Given the description of an element on the screen output the (x, y) to click on. 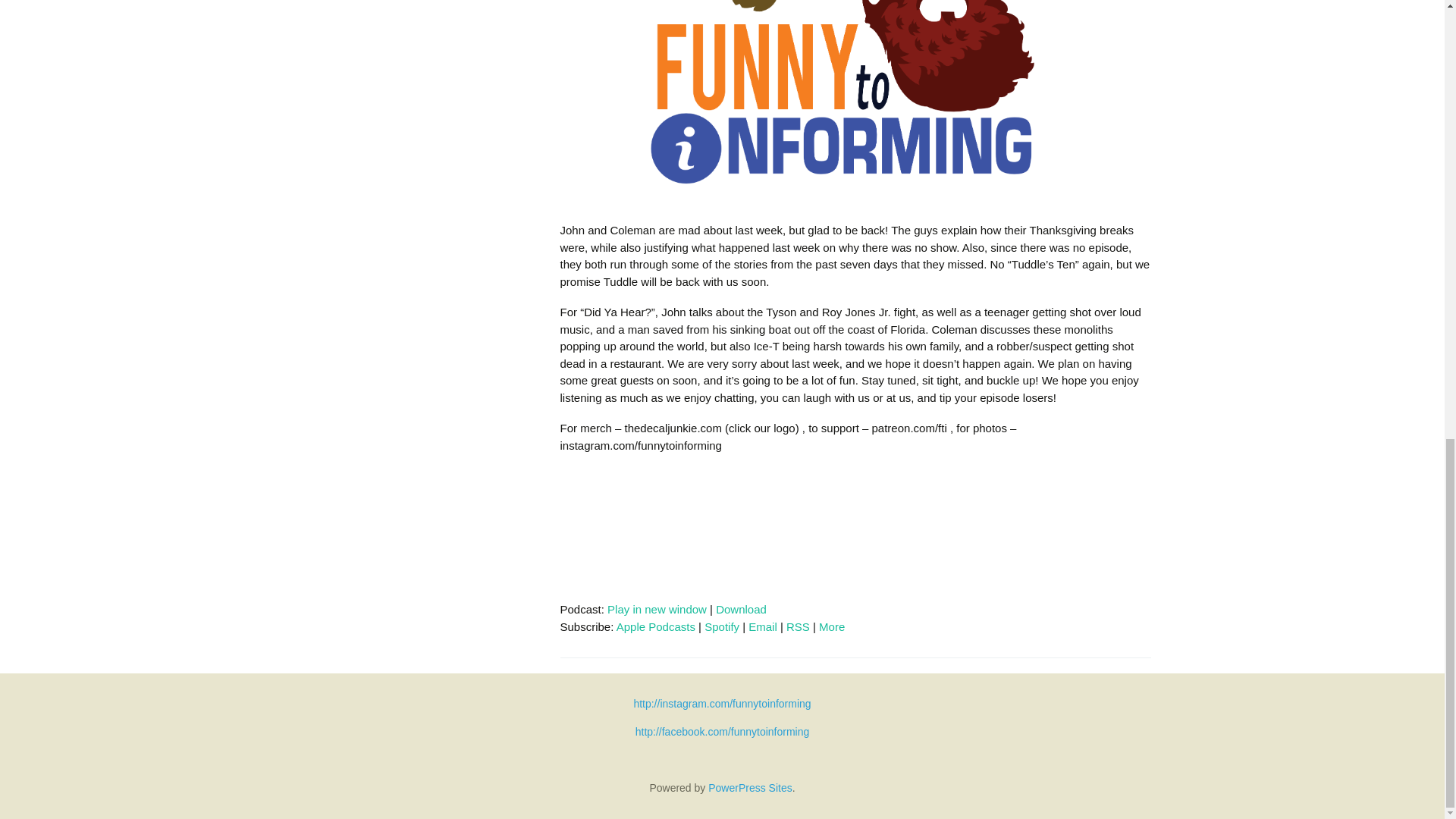
More (831, 626)
Download (741, 608)
Blubrry Podcast Player (854, 529)
Subscribe on Spotify (721, 626)
Play in new window (656, 608)
Subscribe by Email (762, 626)
Subscribe via RSS (797, 626)
Subscribe on Apple Podcasts (655, 626)
Managed WordPress Hosting for your audio and video website (749, 787)
